Given the description of an element on the screen output the (x, y) to click on. 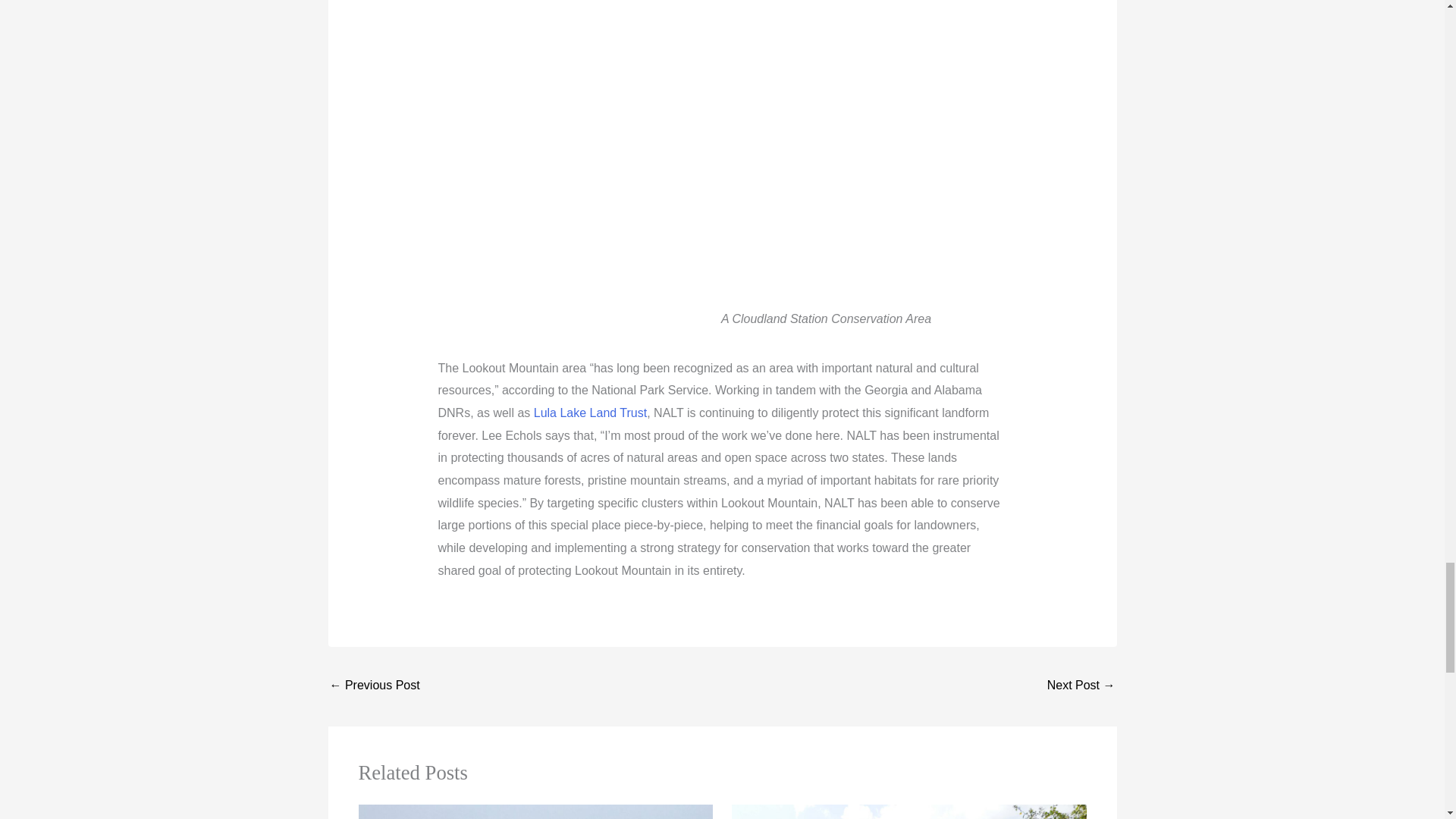
Giving Back This Holiday Season (374, 686)
